Given the description of an element on the screen output the (x, y) to click on. 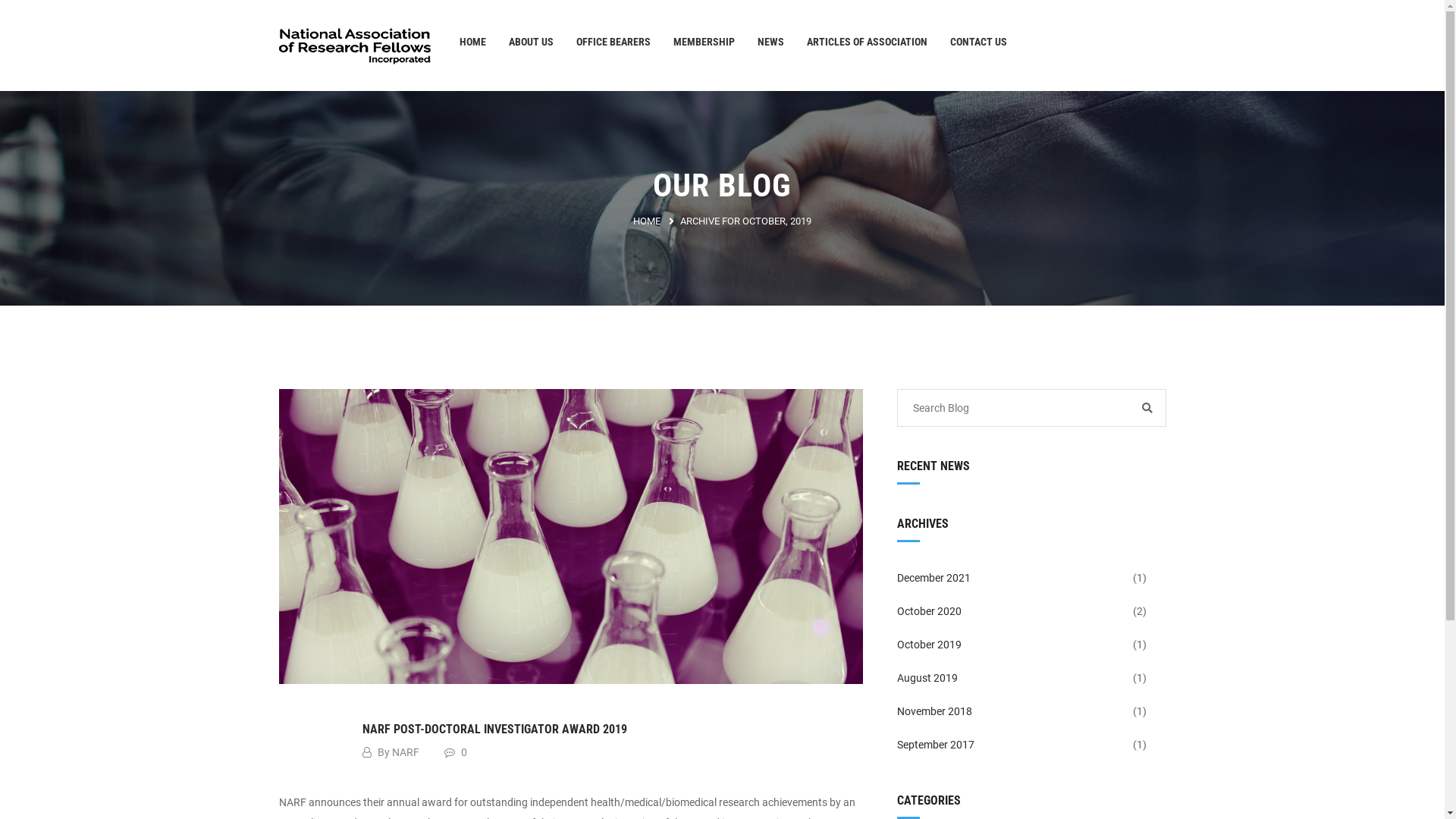
By NARF Element type: text (390, 752)
CONTACT US Element type: text (977, 41)
ARTICLES OF ASSOCIATION Element type: text (866, 41)
September 2017 Element type: text (1013, 744)
ARCHIVE FOR OCTOBER, 2019 Element type: text (745, 220)
HOME Element type: text (472, 41)
October 2019 Element type: text (1013, 644)
MEMBERSHIP Element type: text (703, 41)
OFFICE BEARERS Element type: text (613, 41)
August 2019 Element type: text (1013, 677)
0 Element type: text (455, 752)
NEWS Element type: text (769, 41)
Tallinn Element type: hover (354, 45)
HOME Element type: text (646, 220)
NARF POST-DOCTORAL INVESTIGATOR AWARD 2019 Element type: text (494, 728)
November 2018 Element type: text (1013, 711)
December 2021 Element type: text (1013, 577)
ABOUT US Element type: text (530, 41)
October 2020 Element type: text (1013, 610)
